Given the description of an element on the screen output the (x, y) to click on. 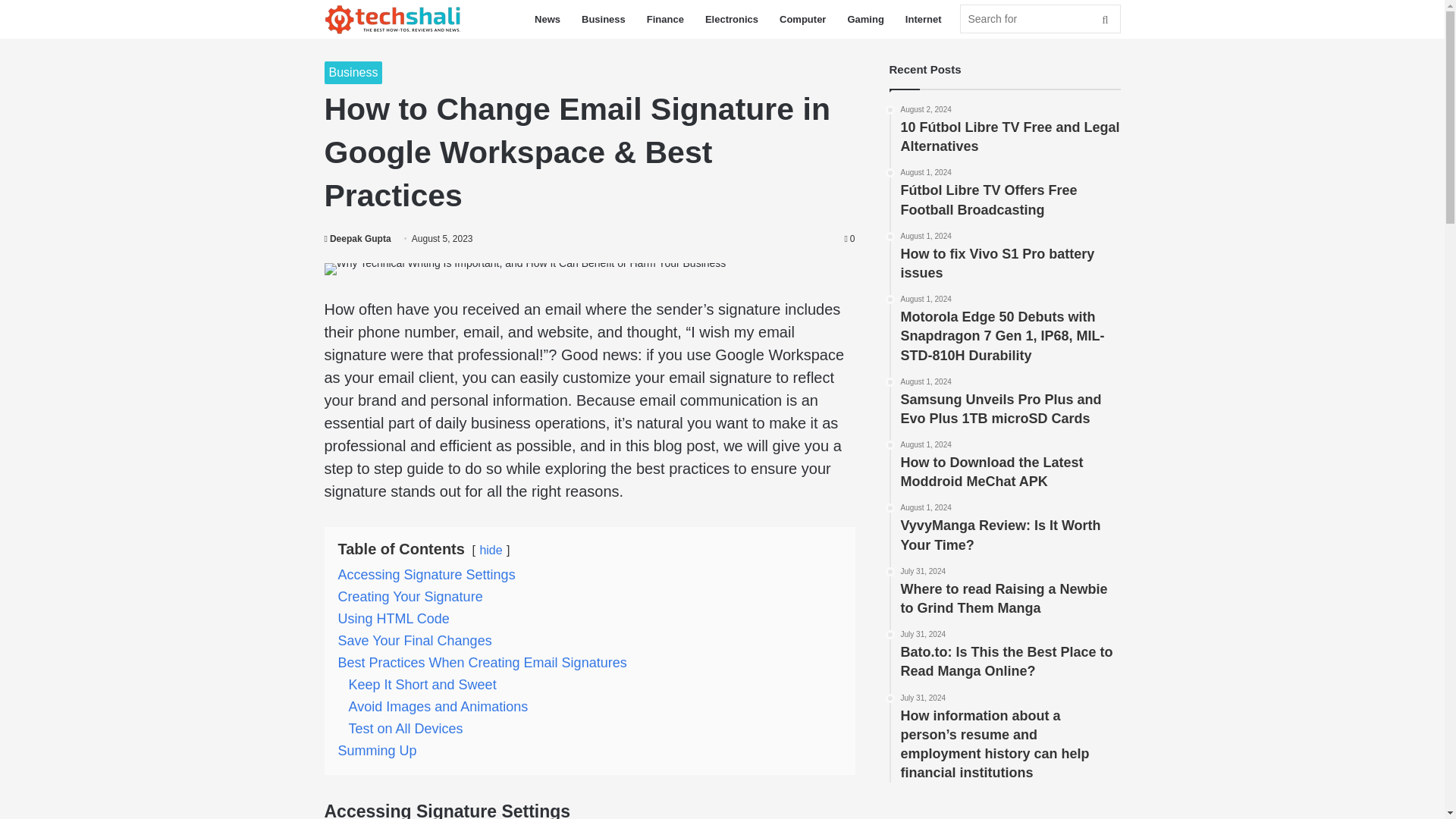
Business (603, 19)
Avoid Images and Animations (438, 706)
Accessing Signature Settings (426, 574)
Using HTML Code (393, 618)
Gaming (864, 19)
Electronics (731, 19)
Deepak Gupta (357, 238)
Keep It Short and Sweet (422, 684)
Internet (923, 19)
News (547, 19)
